Given the description of an element on the screen output the (x, y) to click on. 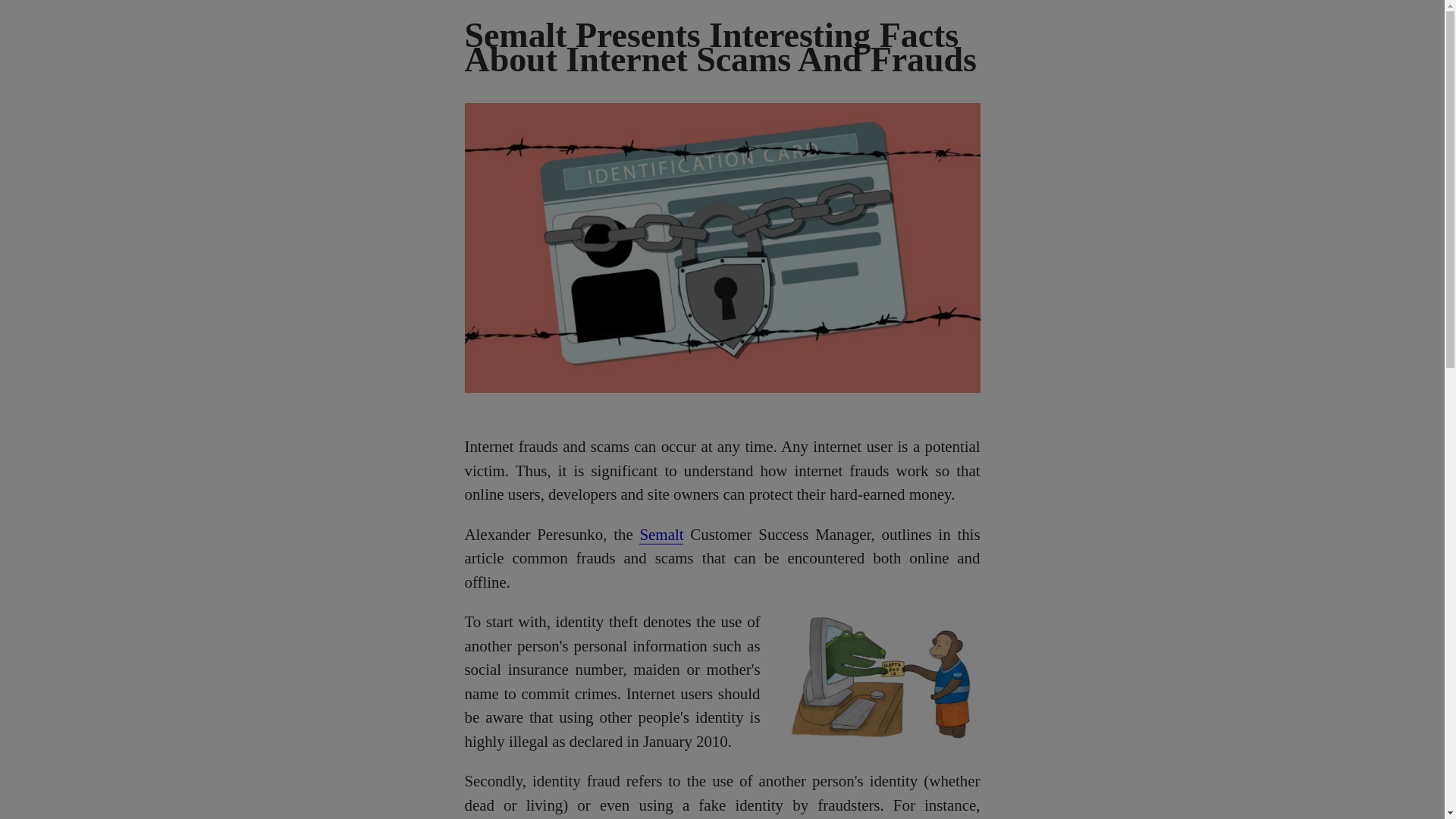
Semalt (660, 534)
